Given the description of an element on the screen output the (x, y) to click on. 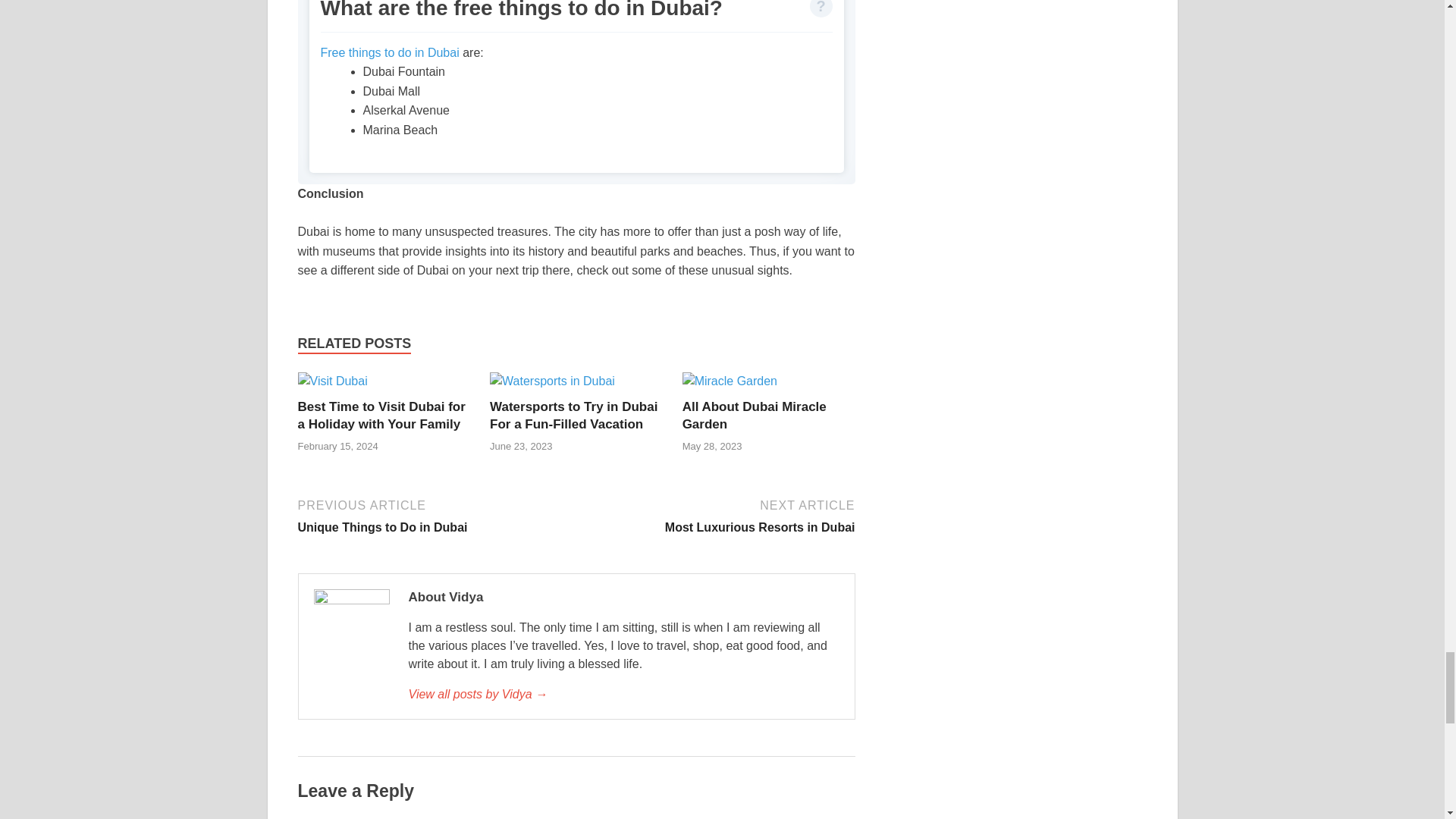
Best Time to Visit Dubai for a Holiday with Your Family (331, 380)
Vidya (622, 694)
All About Dubai Miracle Garden (754, 414)
Watersports to Try in Dubai For a Fun-Filled Vacation (573, 414)
Free things to do in Dubai (389, 51)
All About Dubai Miracle Garden (729, 380)
Watersports to Try in Dubai For a Fun-Filled Vacation (551, 380)
Best Time to Visit Dubai for a Holiday with Your Family (380, 414)
